Given the description of an element on the screen output the (x, y) to click on. 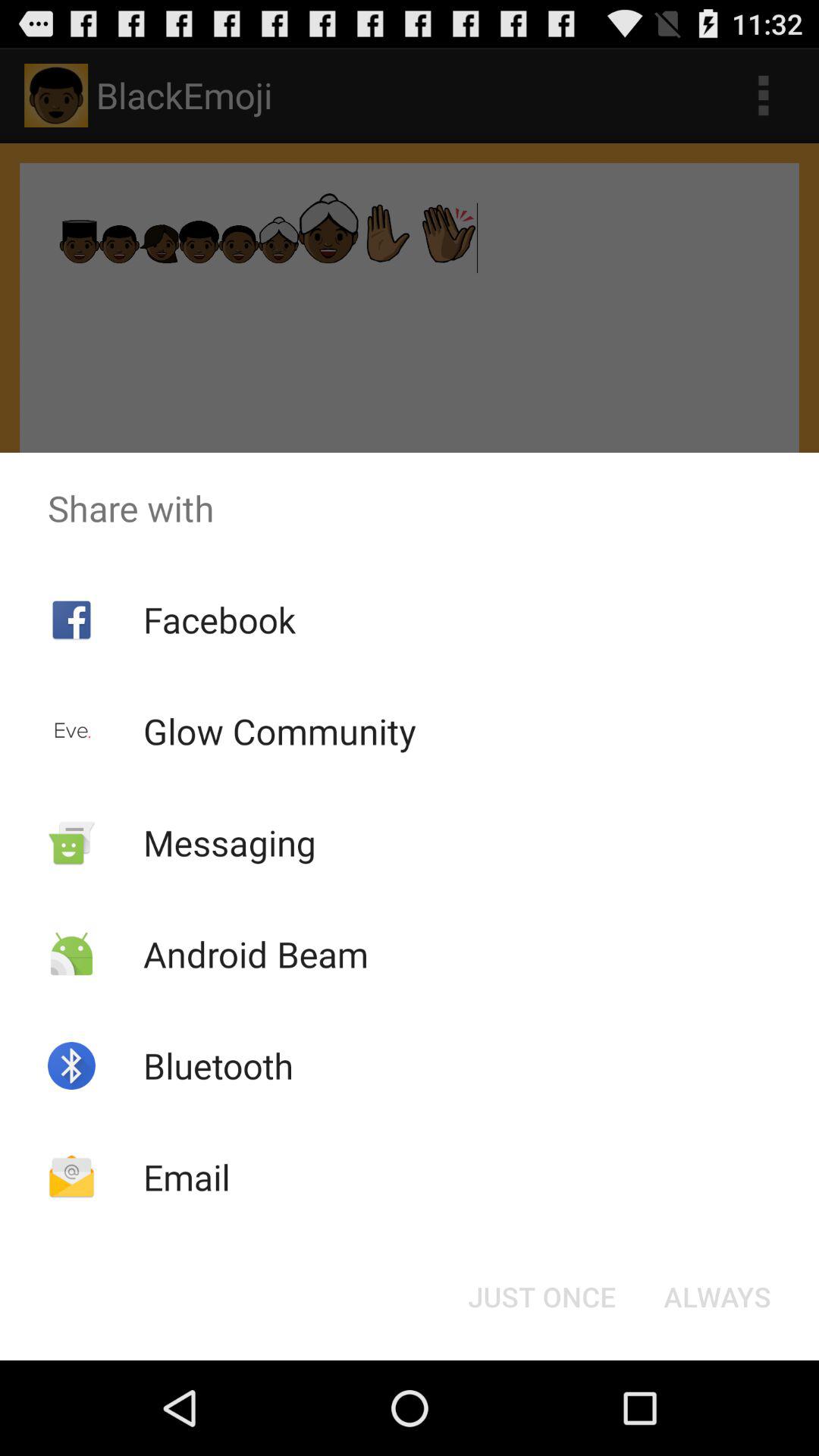
flip until the facebook icon (219, 619)
